Given the description of an element on the screen output the (x, y) to click on. 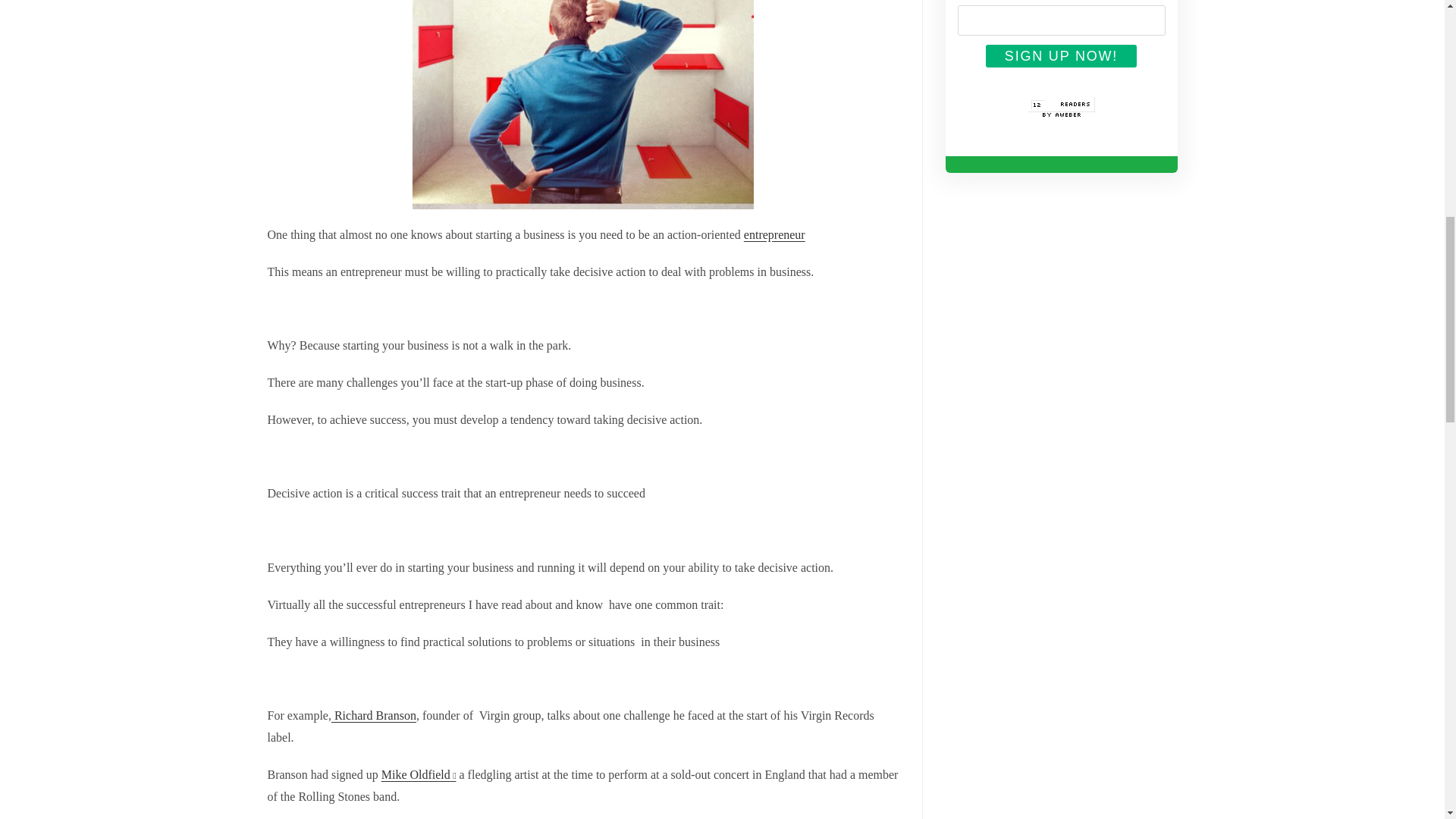
Sign up Now! (1061, 56)
Privacy Policy (1079, 75)
entrepreneur (774, 234)
Sign up Now! (1061, 56)
AWeber Email Marketing (1061, 122)
The Right Way To Starting A Business (774, 234)
Richard Branson (373, 715)
Mike Oldfield (419, 774)
email privacy (1079, 75)
Powered by AWeber Email Marketing (1061, 122)
